Given the description of an element on the screen output the (x, y) to click on. 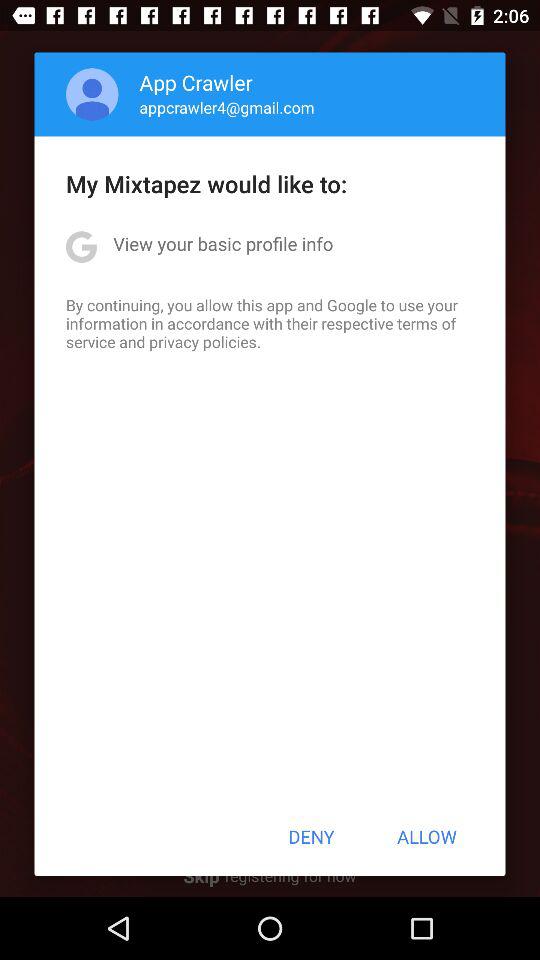
choose item above my mixtapez would (92, 94)
